Given the description of an element on the screen output the (x, y) to click on. 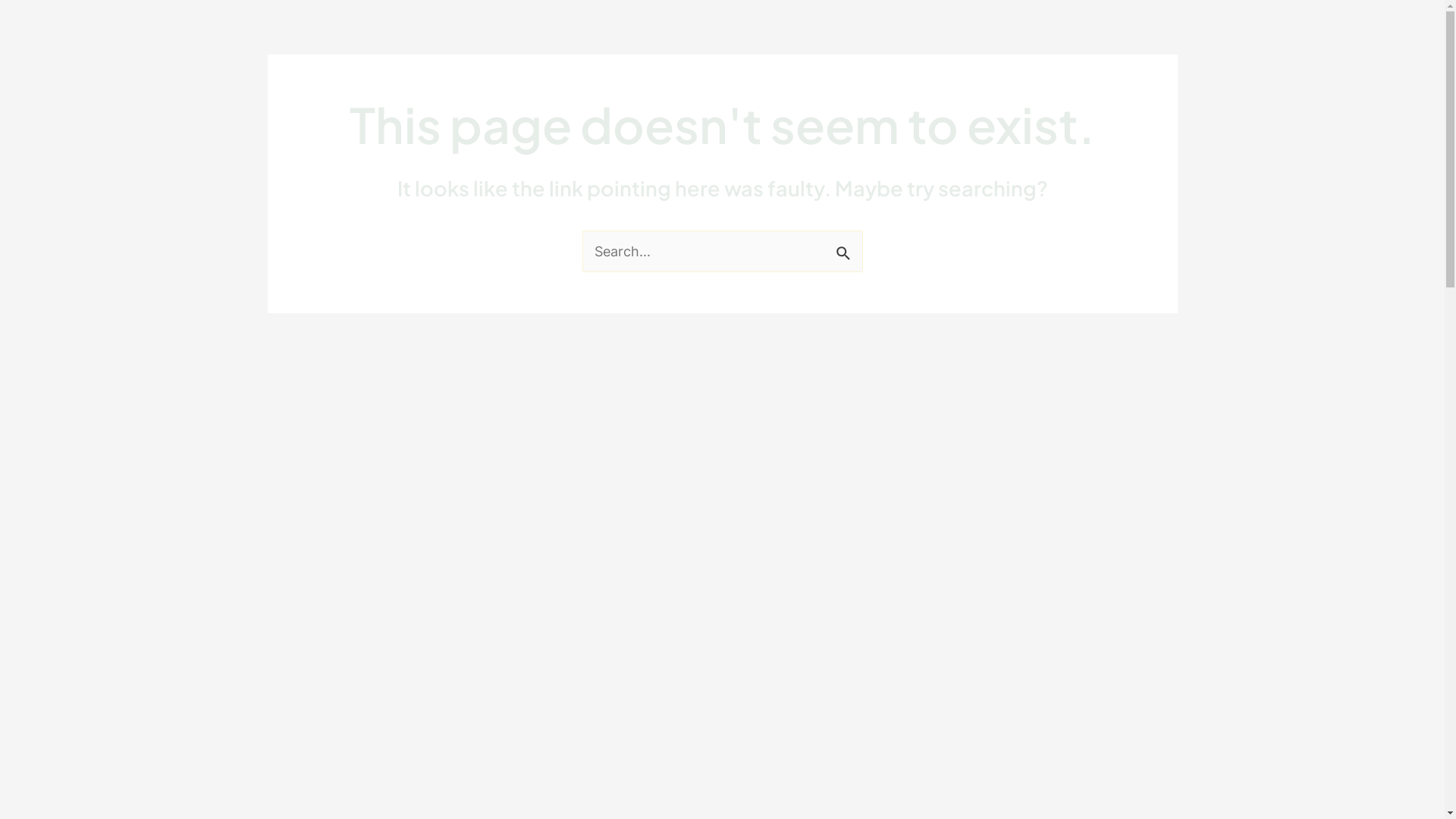
Search Element type: text (845, 247)
